Given the description of an element on the screen output the (x, y) to click on. 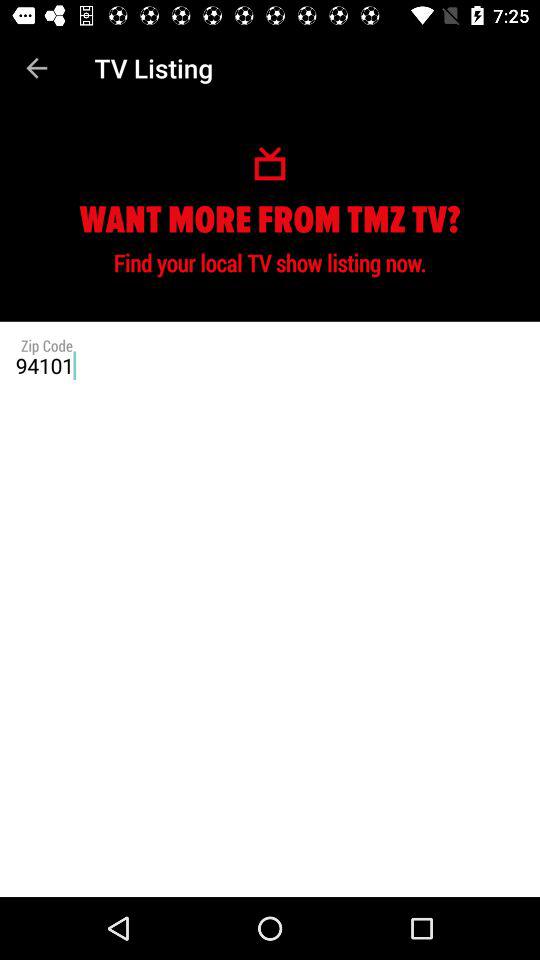
open item next to the tv listing icon (36, 68)
